Given the description of an element on the screen output the (x, y) to click on. 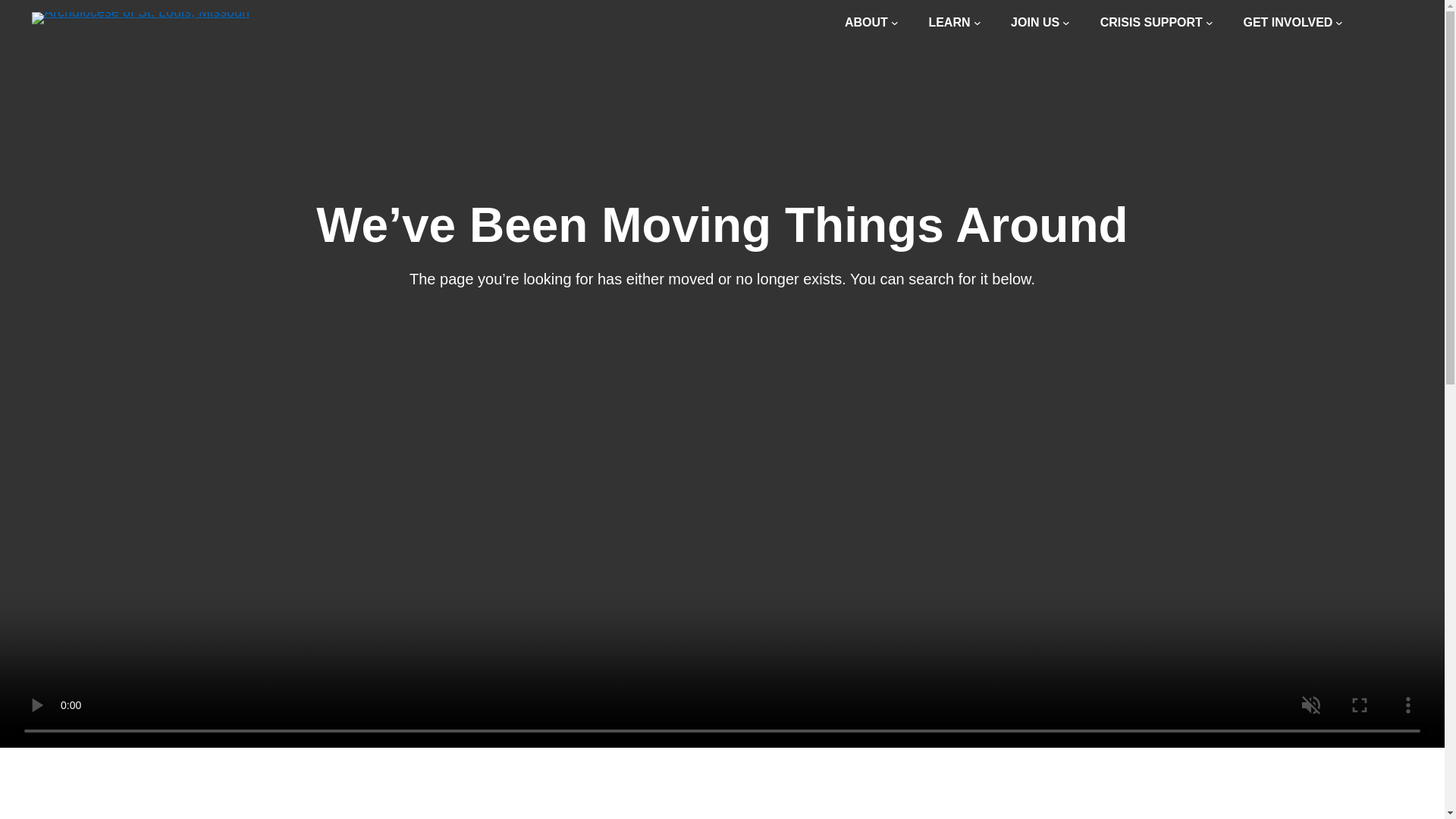
CRISIS SUPPORT (1156, 22)
LEARN (953, 22)
GET INVOLVED (1292, 22)
search (1392, 22)
ABOUT (871, 22)
JOIN US (1040, 22)
